Given the description of an element on the screen output the (x, y) to click on. 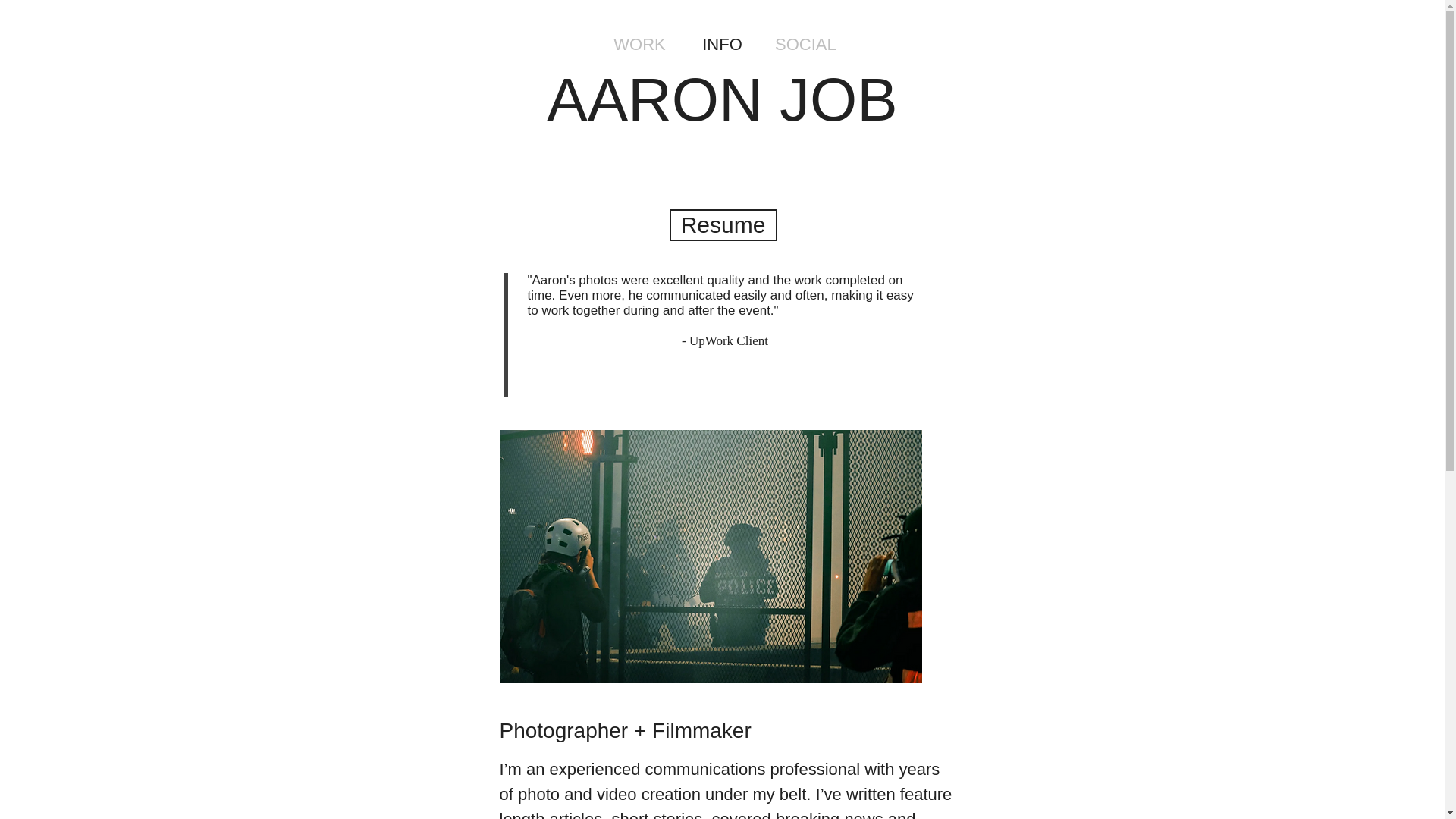
INFO (721, 44)
WORK (639, 44)
AARON JOB (721, 99)
Resume (722, 224)
SOCIAL (803, 44)
